Given the description of an element on the screen output the (x, y) to click on. 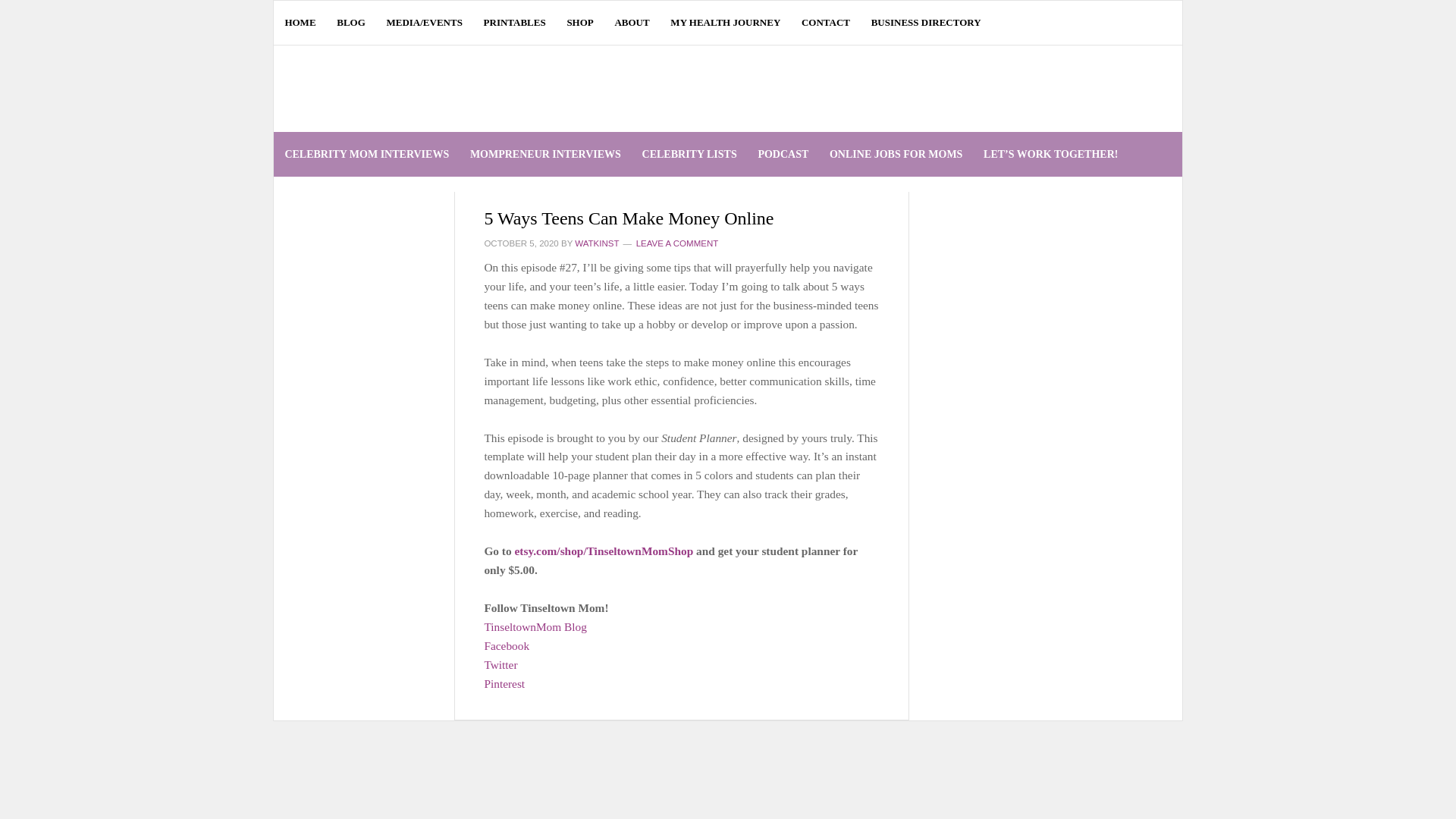
HOME (299, 22)
PODCAST (782, 153)
ONLINE JOBS FOR MOMS (896, 153)
TinseltownMom Blog (534, 626)
MY HEALTH JOURNEY (725, 22)
CONTACT (825, 22)
CELEBRITY MOM INTERVIEWS (366, 153)
BUSINESS DIRECTORY (925, 22)
PRINTABLES (513, 22)
Facebook (506, 645)
